Given the description of an element on the screen output the (x, y) to click on. 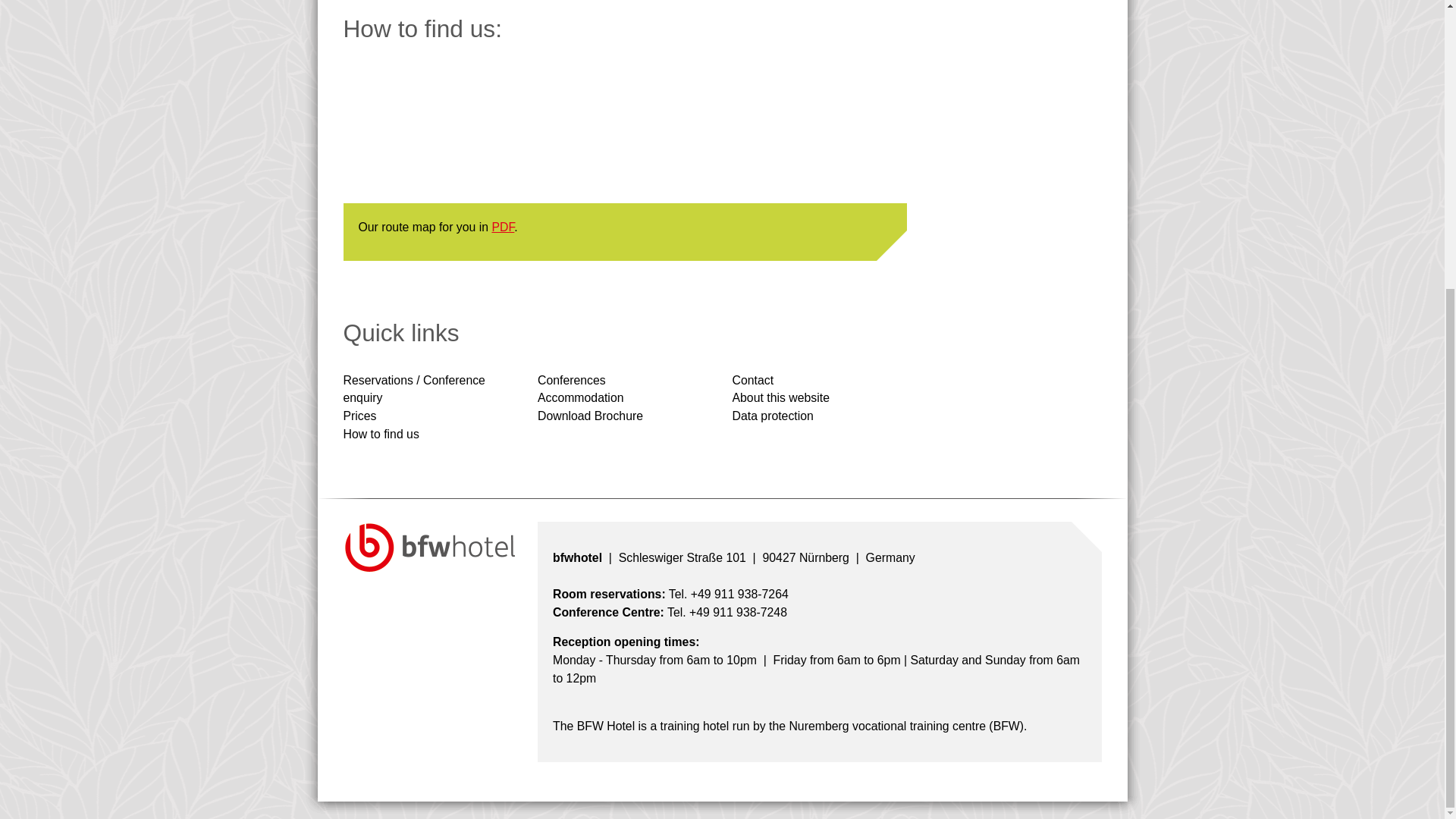
Download Brochure (590, 415)
Link to Conference Centre page (571, 379)
Link to Guest House (580, 397)
Prices (358, 415)
How to find us (380, 433)
PDF (502, 226)
Download hotel brochure (590, 415)
Conferences (571, 379)
Link to BFW Hotel Nuremberg rates (358, 415)
Link to How to find us page (380, 433)
Link to Contact page (753, 379)
Accommodation (580, 397)
Data protection (772, 415)
Link to Reservation and Conference enquiry page (413, 388)
About this website (780, 397)
